Given the description of an element on the screen output the (x, y) to click on. 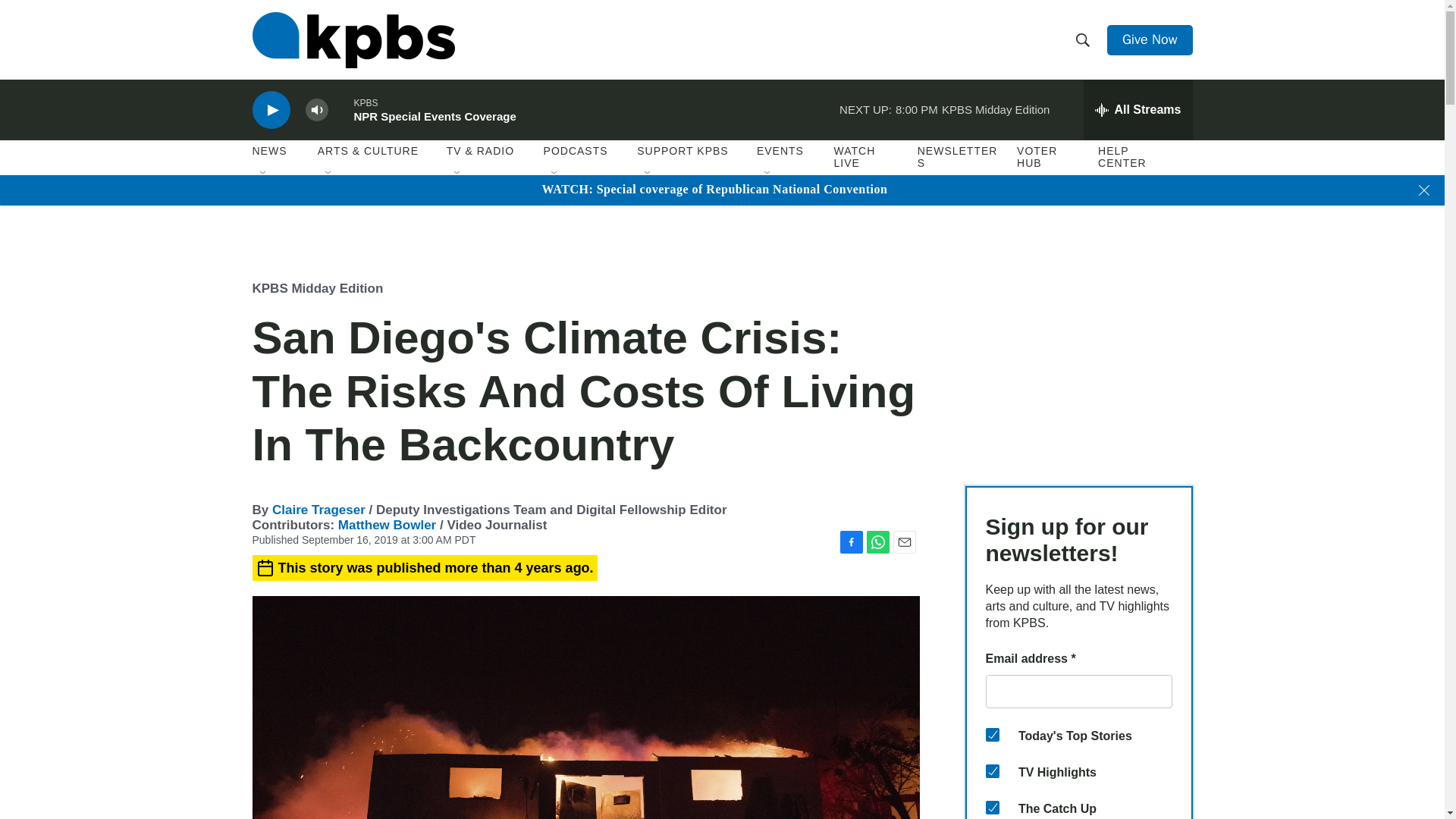
4 (991, 735)
3rd party ad content (1077, 360)
6 (991, 807)
5 (991, 771)
